Given the description of an element on the screen output the (x, y) to click on. 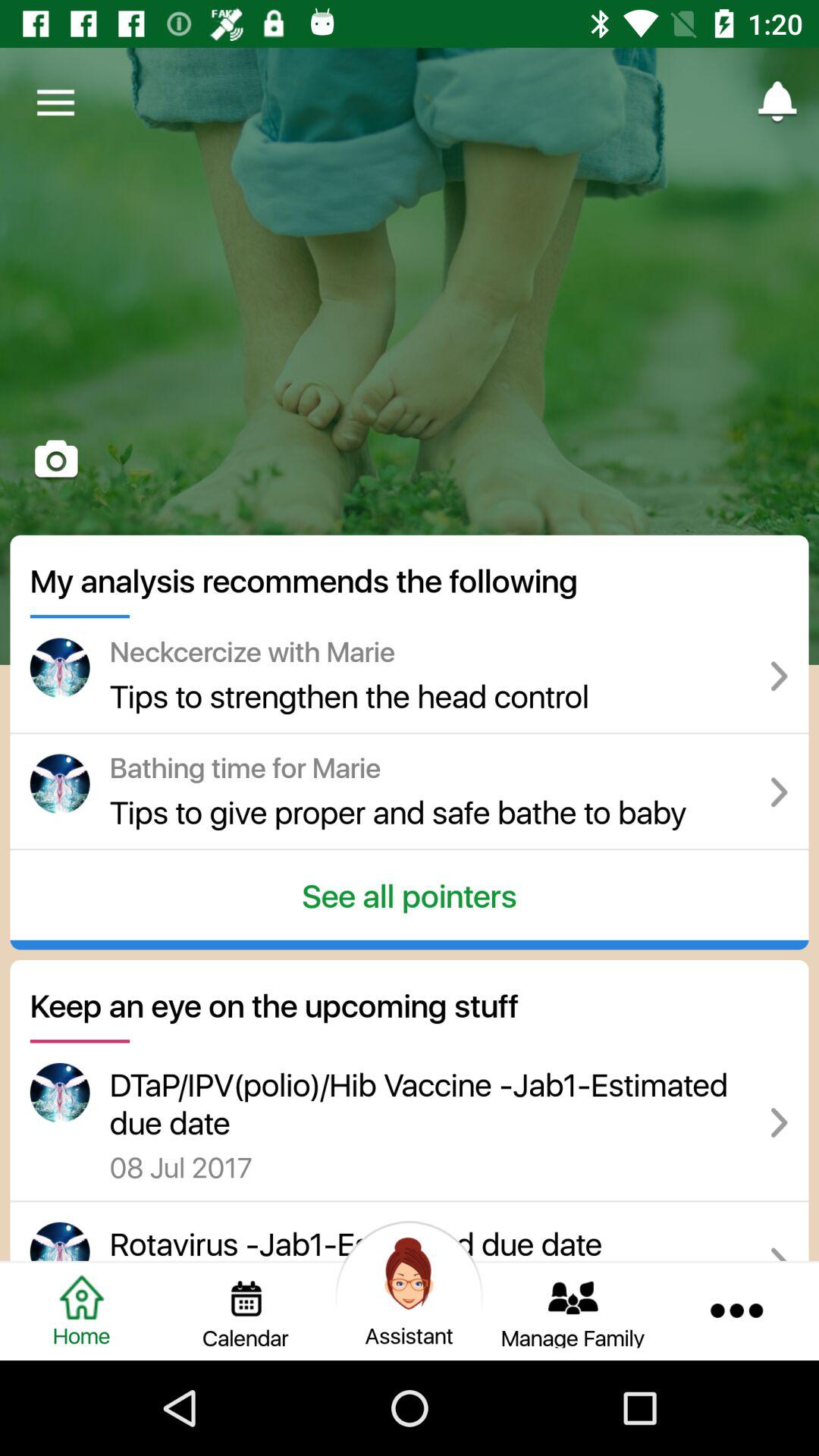
open the assistant (409, 1310)
